Given the description of an element on the screen output the (x, y) to click on. 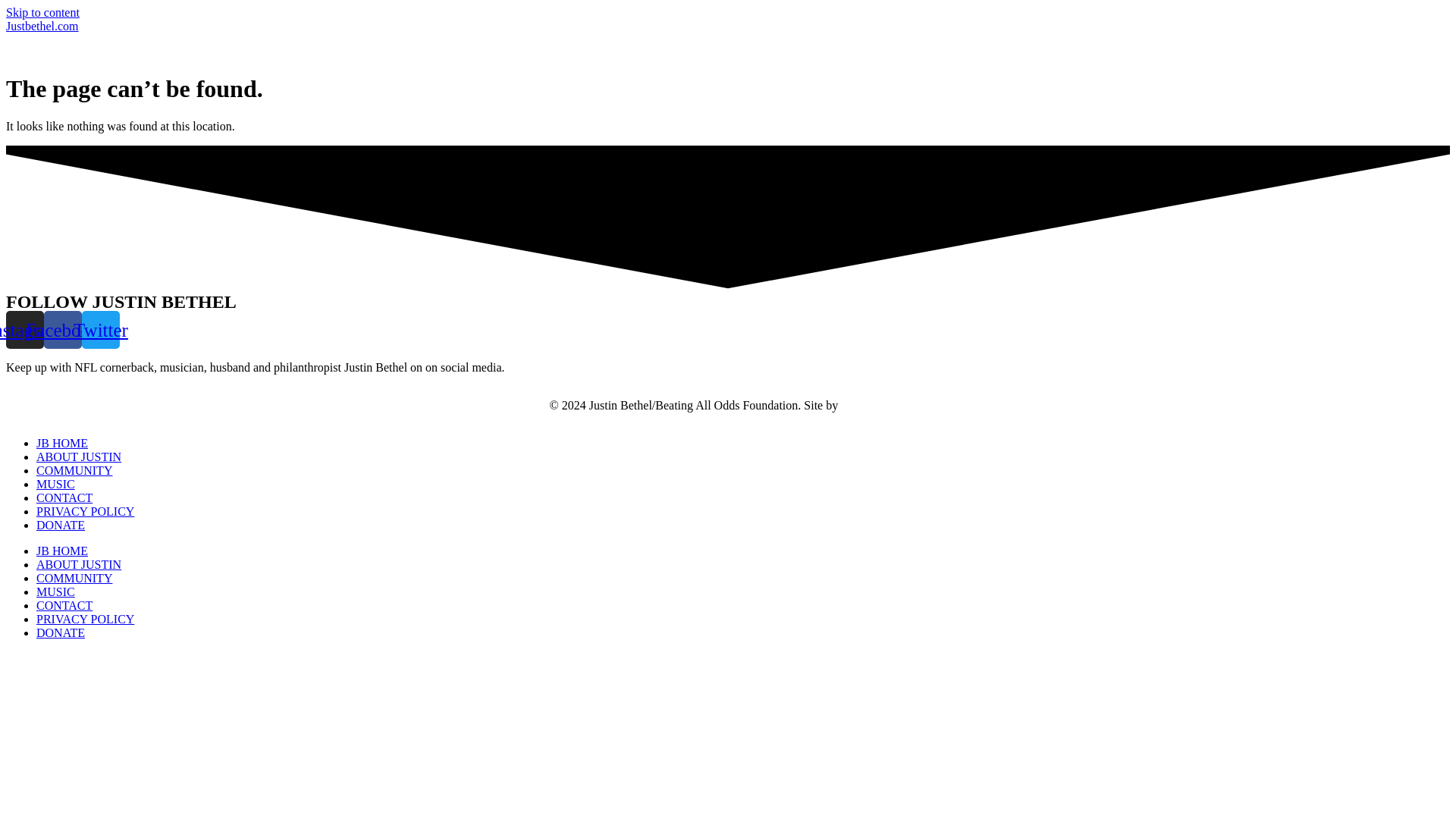
PRIVACY POLICY (84, 618)
PRIVACY POLICY (84, 511)
ABOUT JUSTIN (78, 456)
Twitter (100, 329)
COMMUNITY (74, 577)
DONATE (60, 524)
COMMUNITY (74, 470)
Facebook (62, 329)
SinceEighty6 (873, 404)
Home (41, 25)
